Given the description of an element on the screen output the (x, y) to click on. 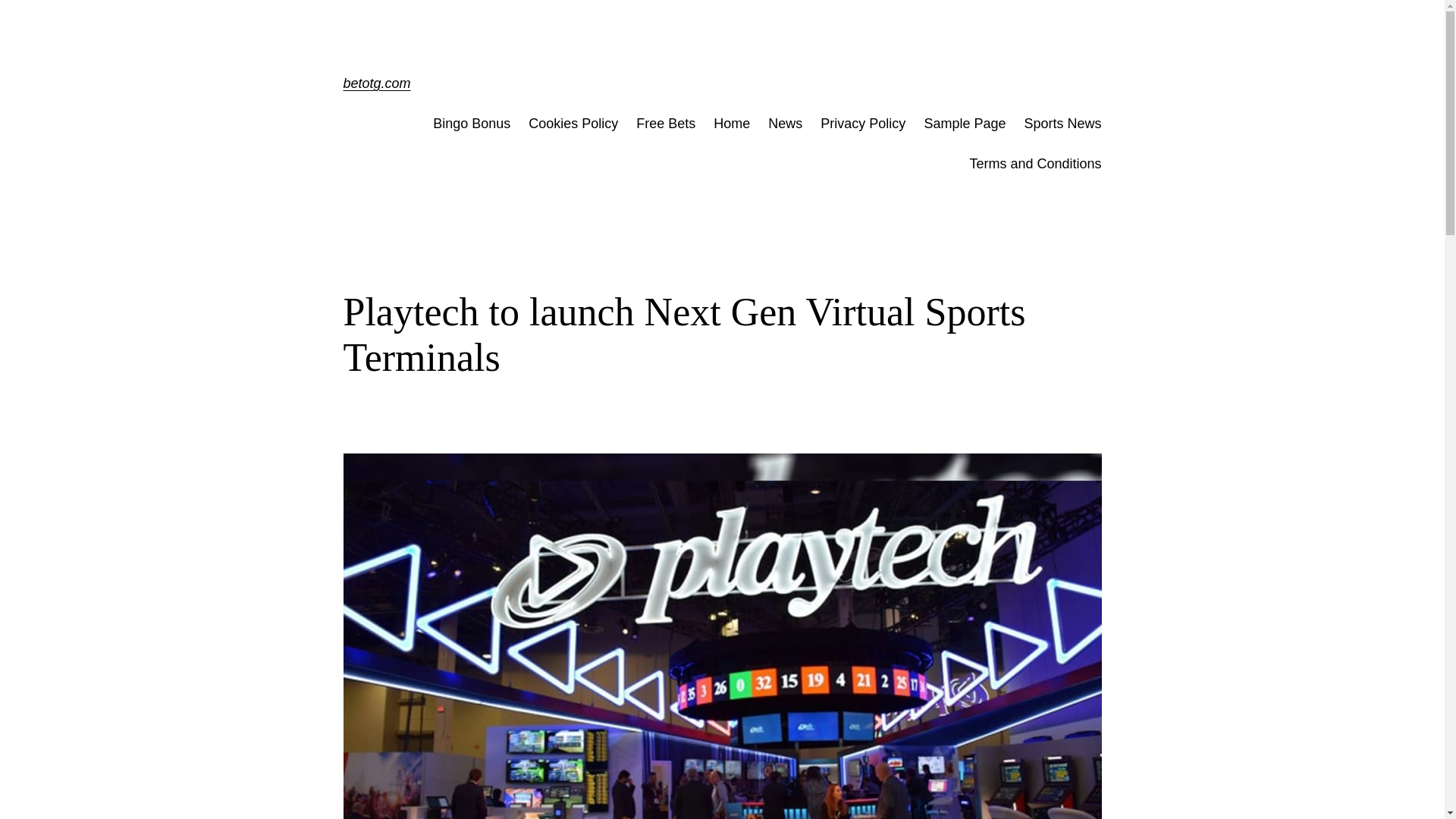
Cookies Policy (572, 124)
Sample Page (964, 124)
News (785, 124)
Sports News (1061, 124)
Home (731, 124)
betotg.com (376, 83)
Terms and Conditions (1034, 164)
Privacy Policy (863, 124)
Bingo Bonus (471, 124)
Free Bets (665, 124)
